Given the description of an element on the screen output the (x, y) to click on. 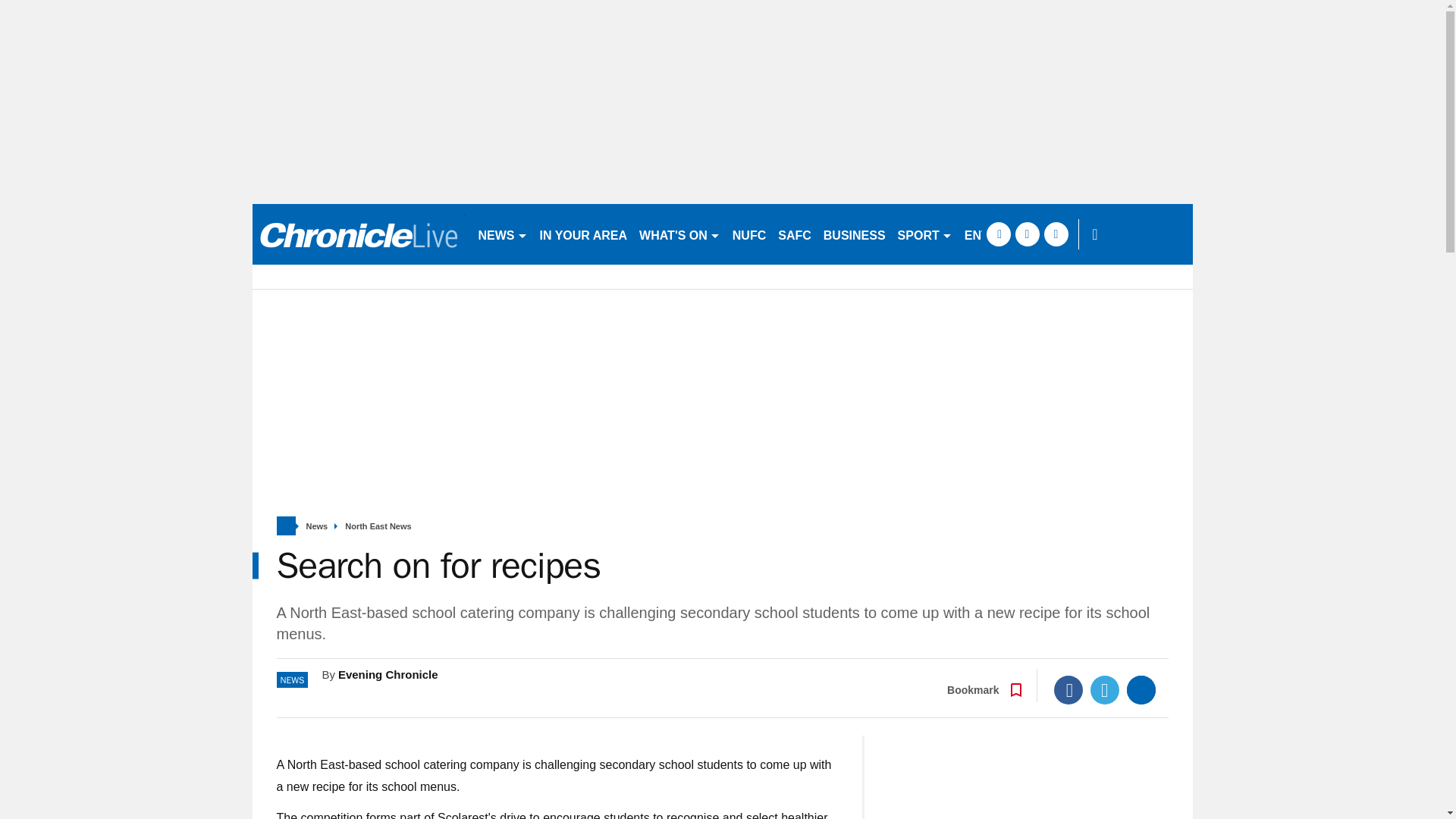
WHAT'S ON (679, 233)
SPORT (924, 233)
NEWS (501, 233)
Twitter (1104, 689)
Facebook (1068, 689)
nechronicle (357, 233)
facebook (997, 233)
IN YOUR AREA (583, 233)
twitter (1026, 233)
BUSINESS (853, 233)
